Given the description of an element on the screen output the (x, y) to click on. 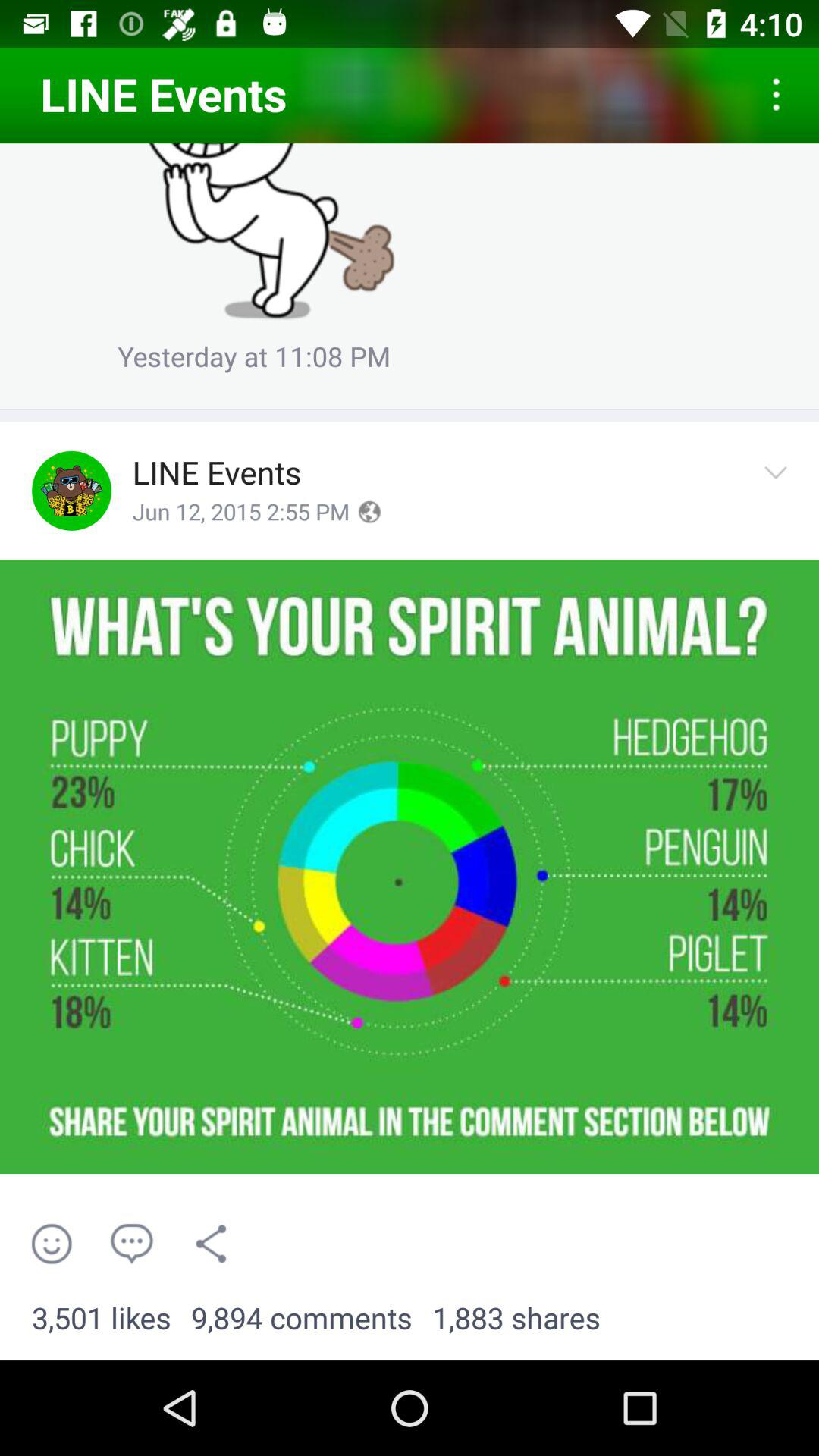
click the item next to the 9,894 comments app (101, 1318)
